Given the description of an element on the screen output the (x, y) to click on. 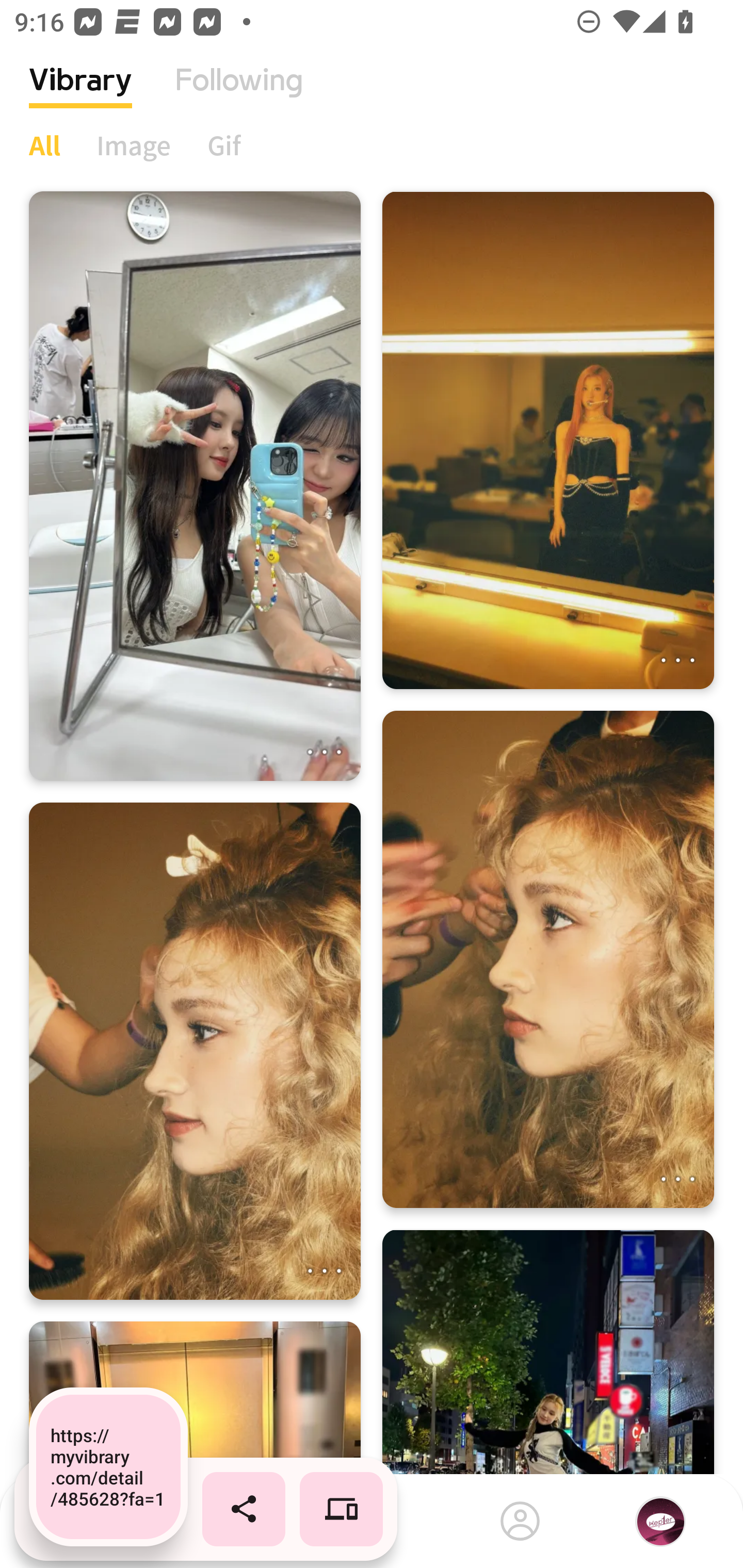
Vibrary (80, 95)
Following (239, 95)
All (44, 145)
Image (133, 145)
Gif (223, 145)
